Given the description of an element on the screen output the (x, y) to click on. 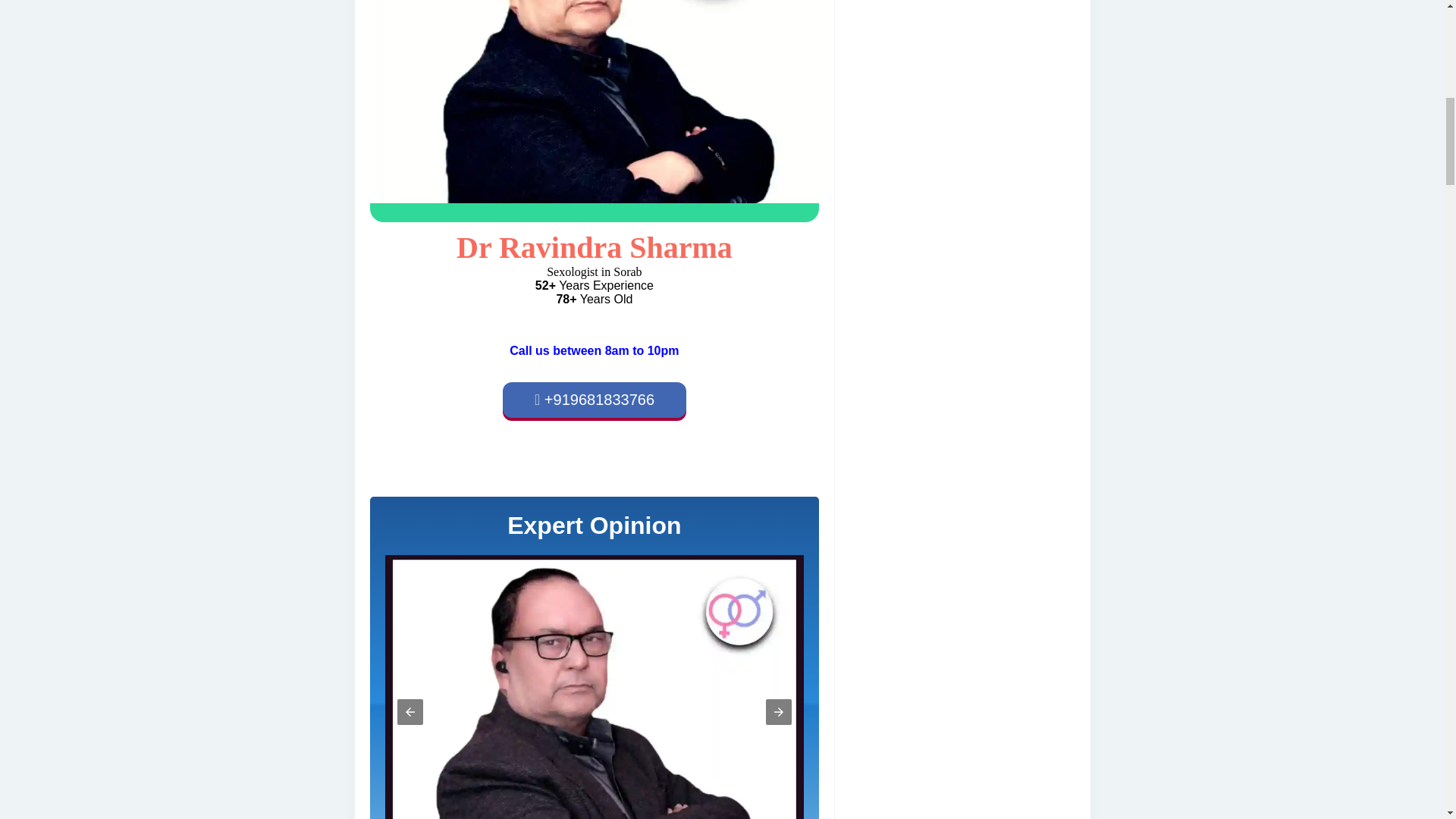
Dr Ravindra Sharma (594, 247)
Sexologist in Sorab (594, 101)
Sexologist in Sorab (594, 111)
